Given the description of an element on the screen output the (x, y) to click on. 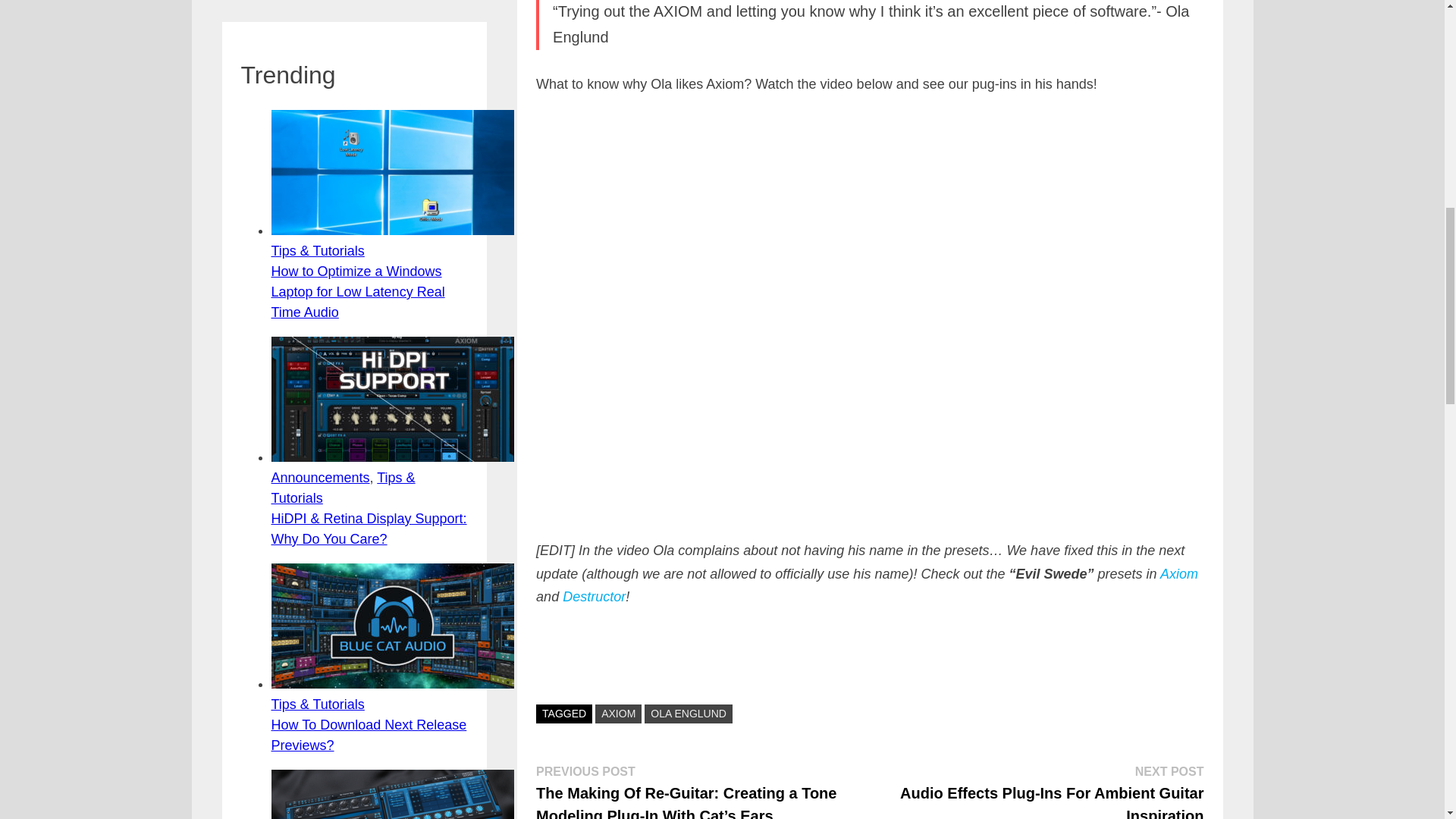
Destructor (594, 596)
OLA ENGLUND (688, 713)
AXIOM (618, 713)
Axiom (1179, 572)
